Given the description of an element on the screen output the (x, y) to click on. 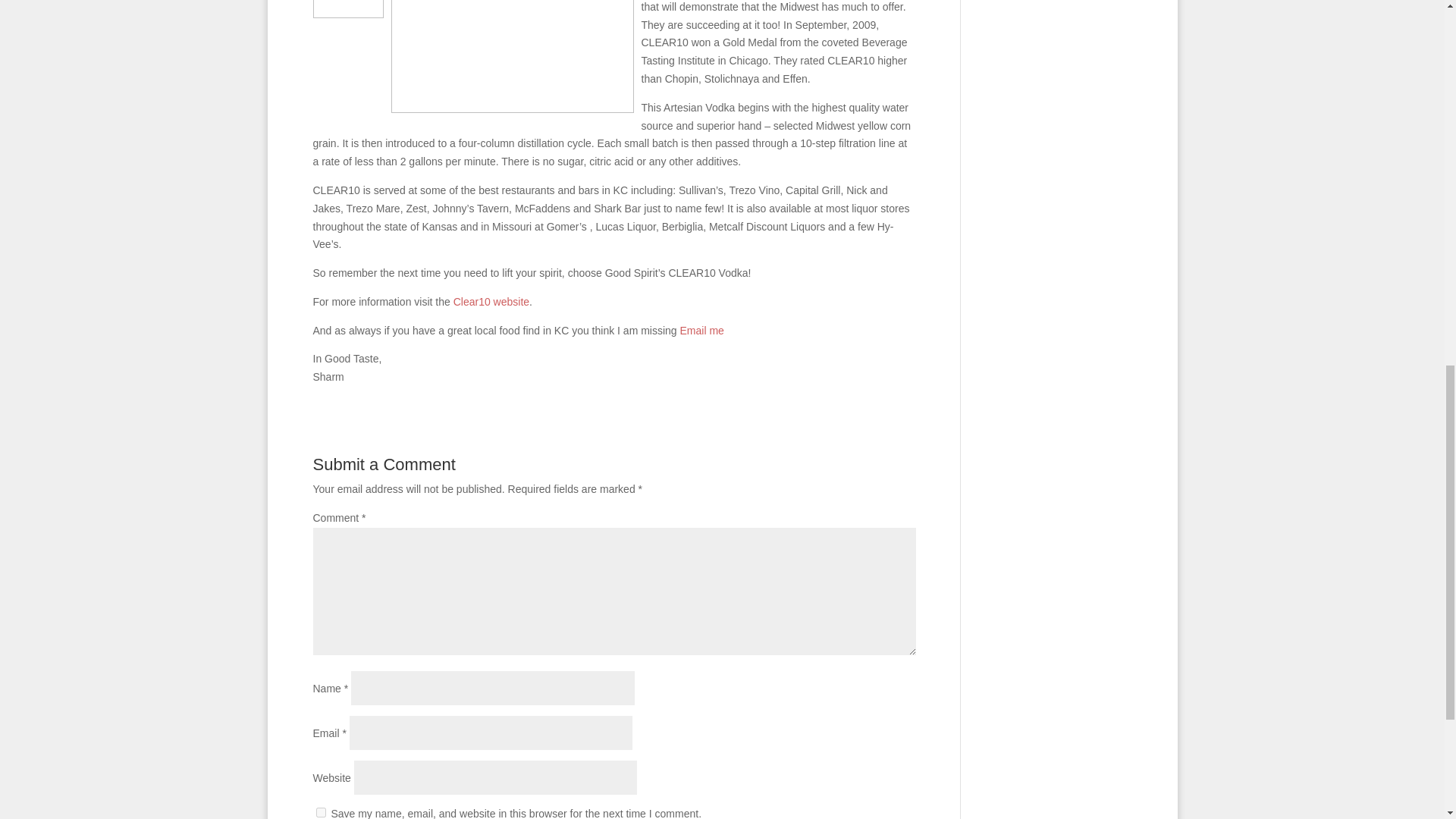
yes (319, 812)
Clear10 website (490, 301)
Email me (701, 330)
